Given the description of an element on the screen output the (x, y) to click on. 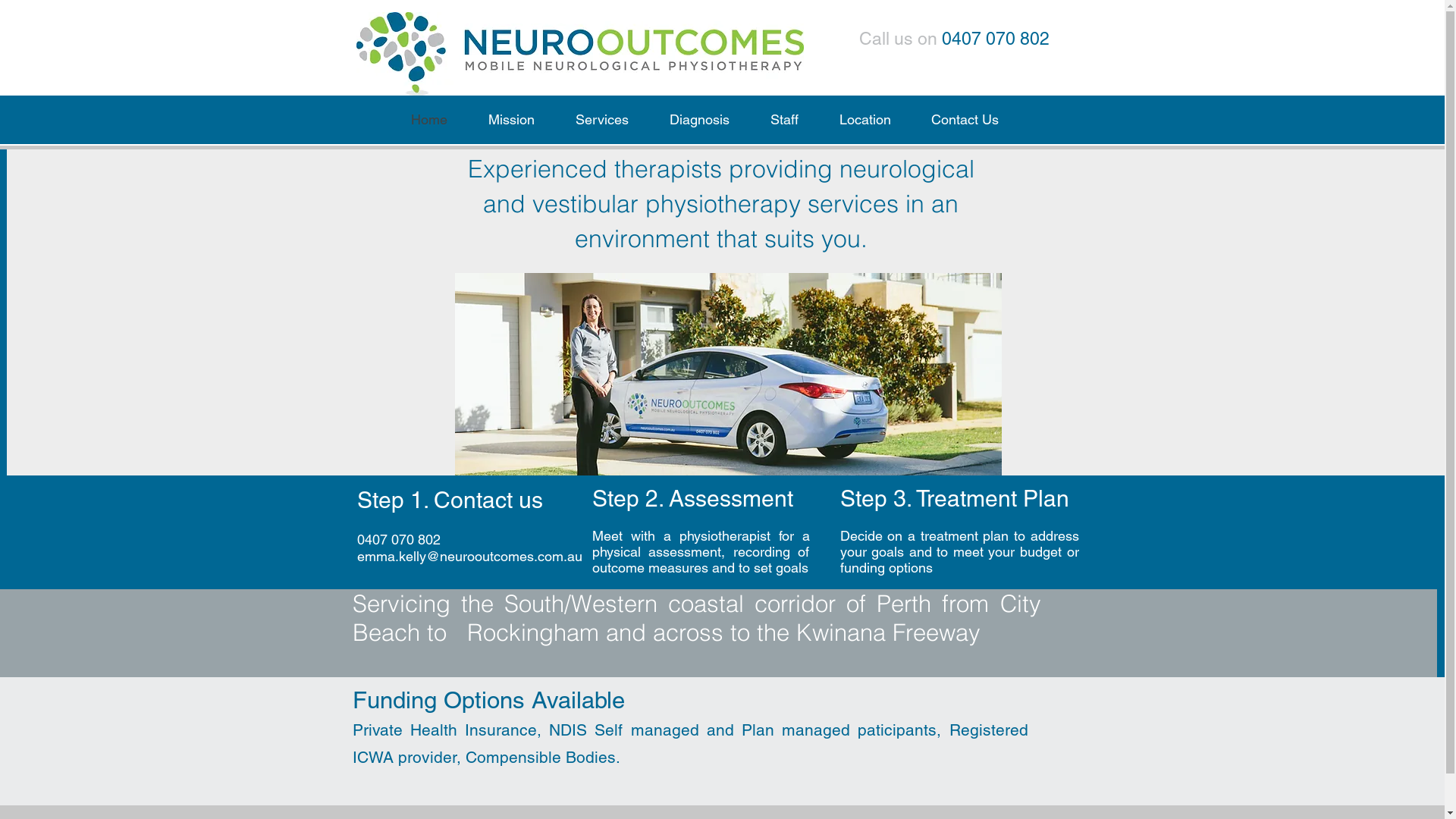
Diagnosis Element type: text (699, 119)
Diagnosis Element type: text (1184, 127)
Contact Us Element type: text (965, 119)
Services Element type: text (602, 119)
Contact Us Element type: text (1372, 127)
Mission Element type: text (1050, 127)
Mission Element type: text (510, 119)
Home Element type: text (428, 119)
Staff Element type: text (783, 119)
Staff Element type: text (1244, 127)
emma.kelly@neurooutcomes.com.au Element type: text (468, 556)
Location Element type: text (865, 119)
Services Element type: text (1114, 127)
Home Element type: text (992, 127)
Location Element type: text (1299, 127)
